Given the description of an element on the screen output the (x, y) to click on. 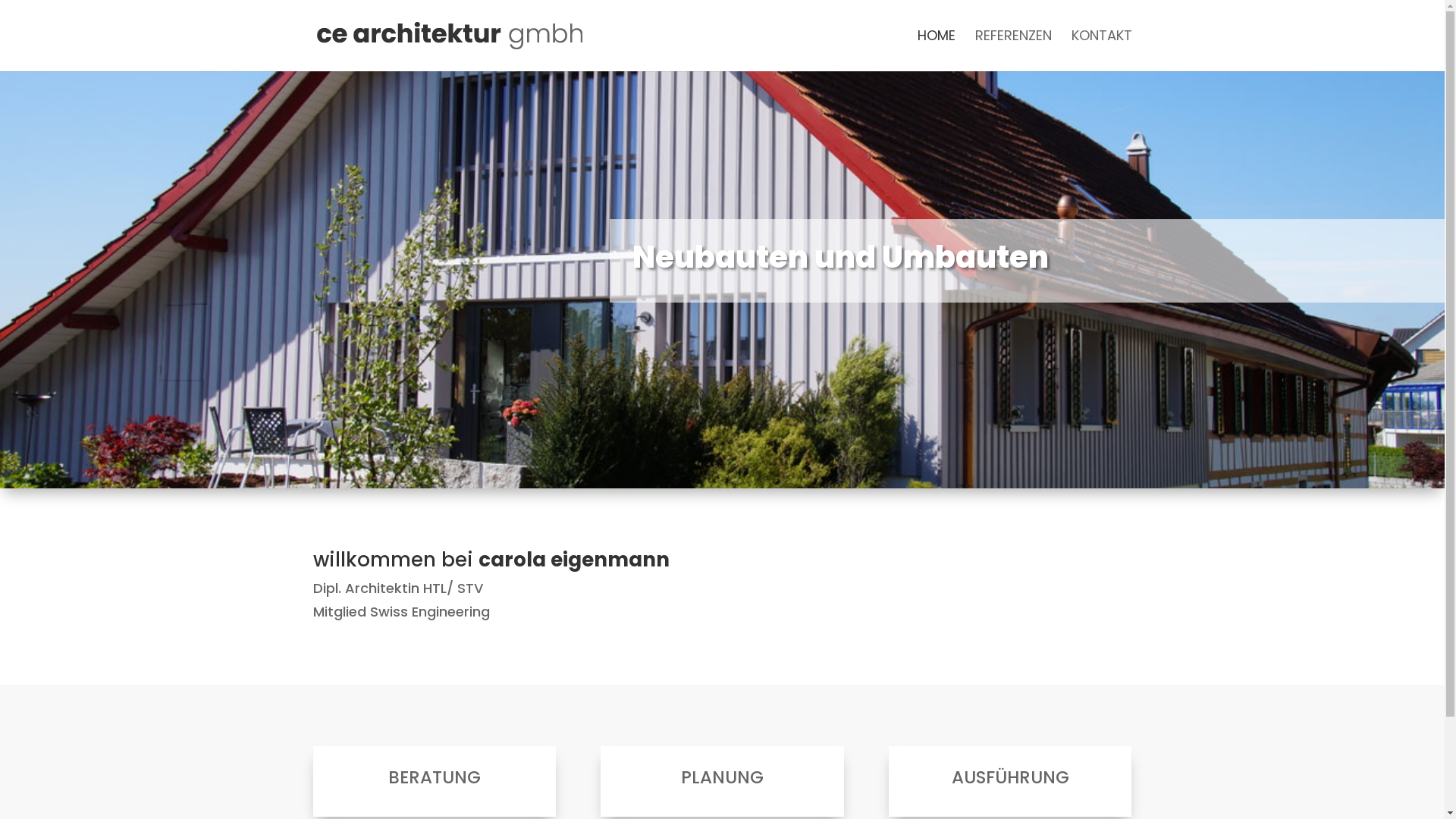
REFERENZEN Element type: text (1013, 50)
HOME Element type: text (936, 50)
Impressum Element type: text (750, 794)
JAMOS Element type: text (1019, 794)
KONTAKT Element type: text (1100, 50)
